Given the description of an element on the screen output the (x, y) to click on. 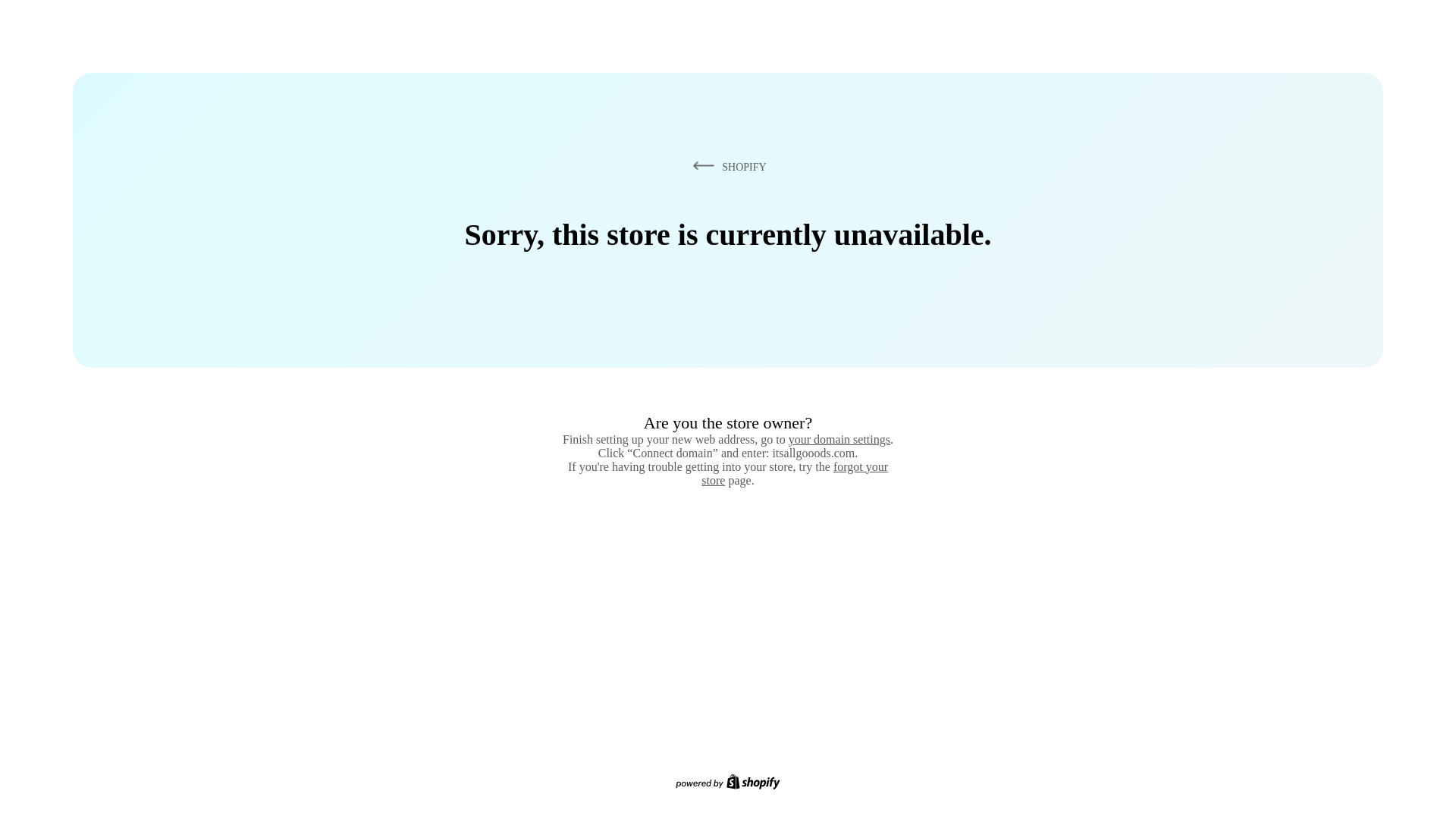
forgot your store (794, 473)
SHOPIFY (726, 166)
your domain settings (839, 439)
